Given the description of an element on the screen output the (x, y) to click on. 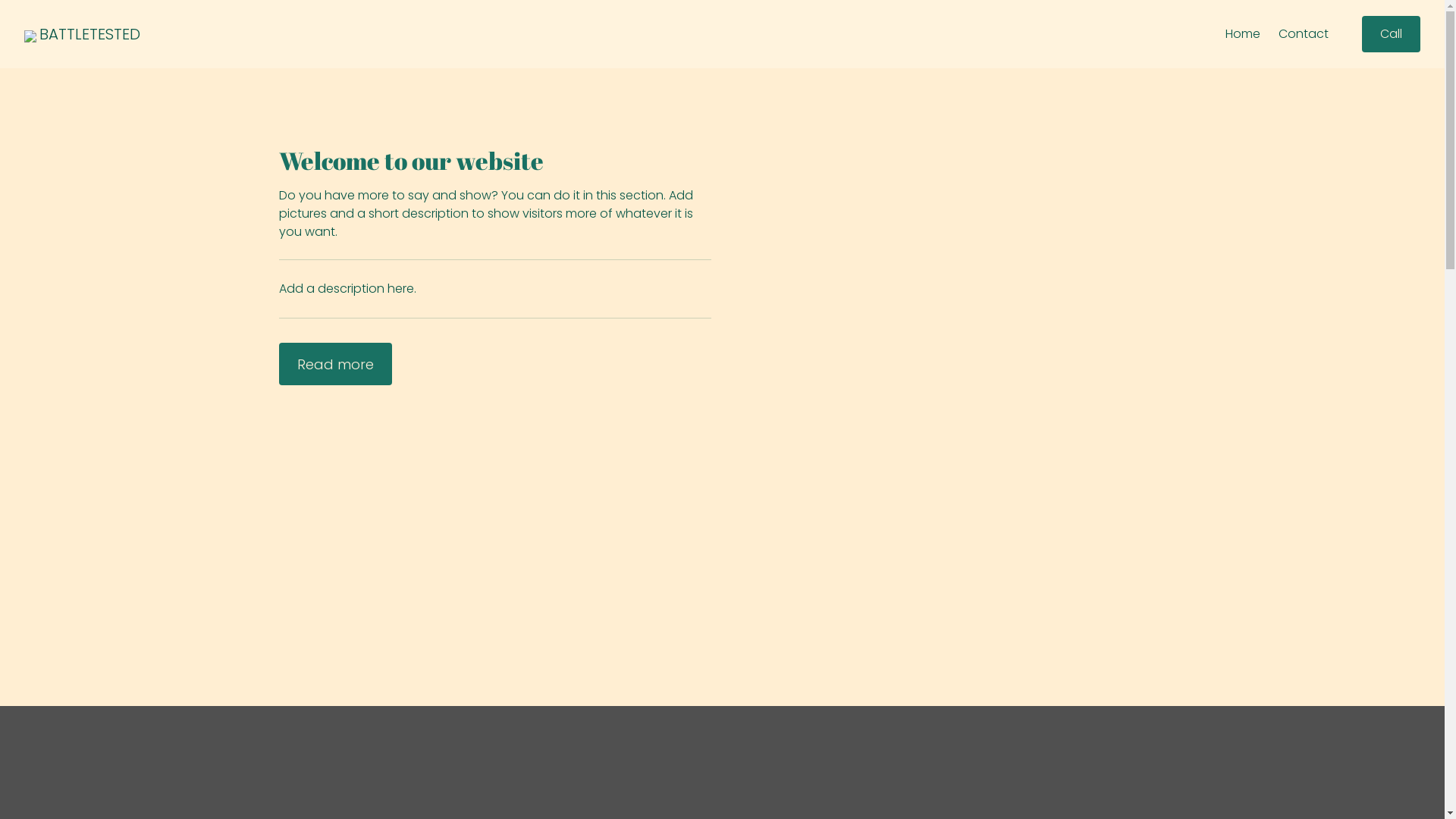
Contact Element type: text (1303, 33)
Call Element type: text (1390, 33)
BATTLETESTED Element type: text (89, 33)
Read more Element type: text (335, 363)
Home Element type: text (1242, 33)
